Given the description of an element on the screen output the (x, y) to click on. 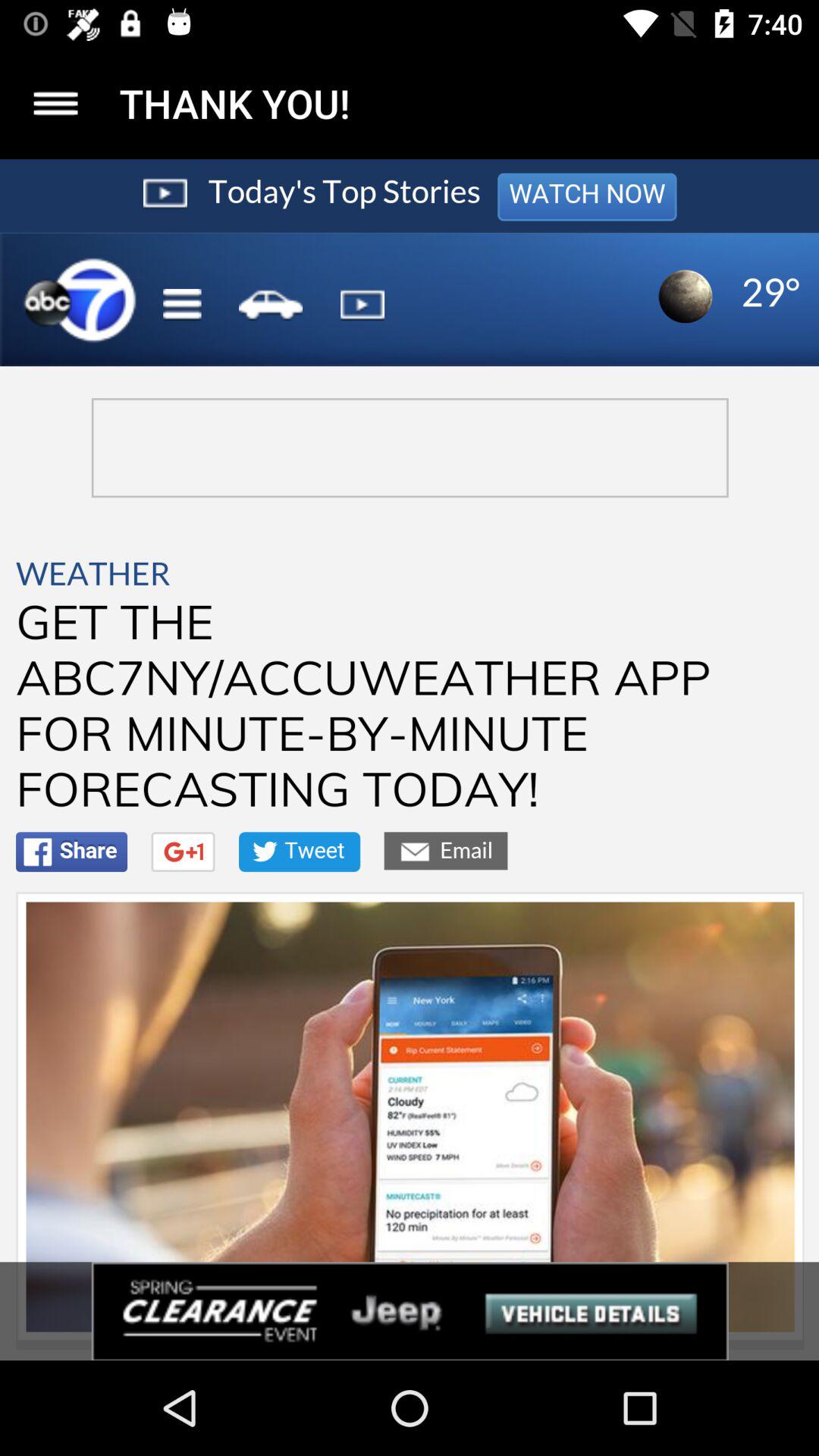
go to menu option (55, 103)
